Given the description of an element on the screen output the (x, y) to click on. 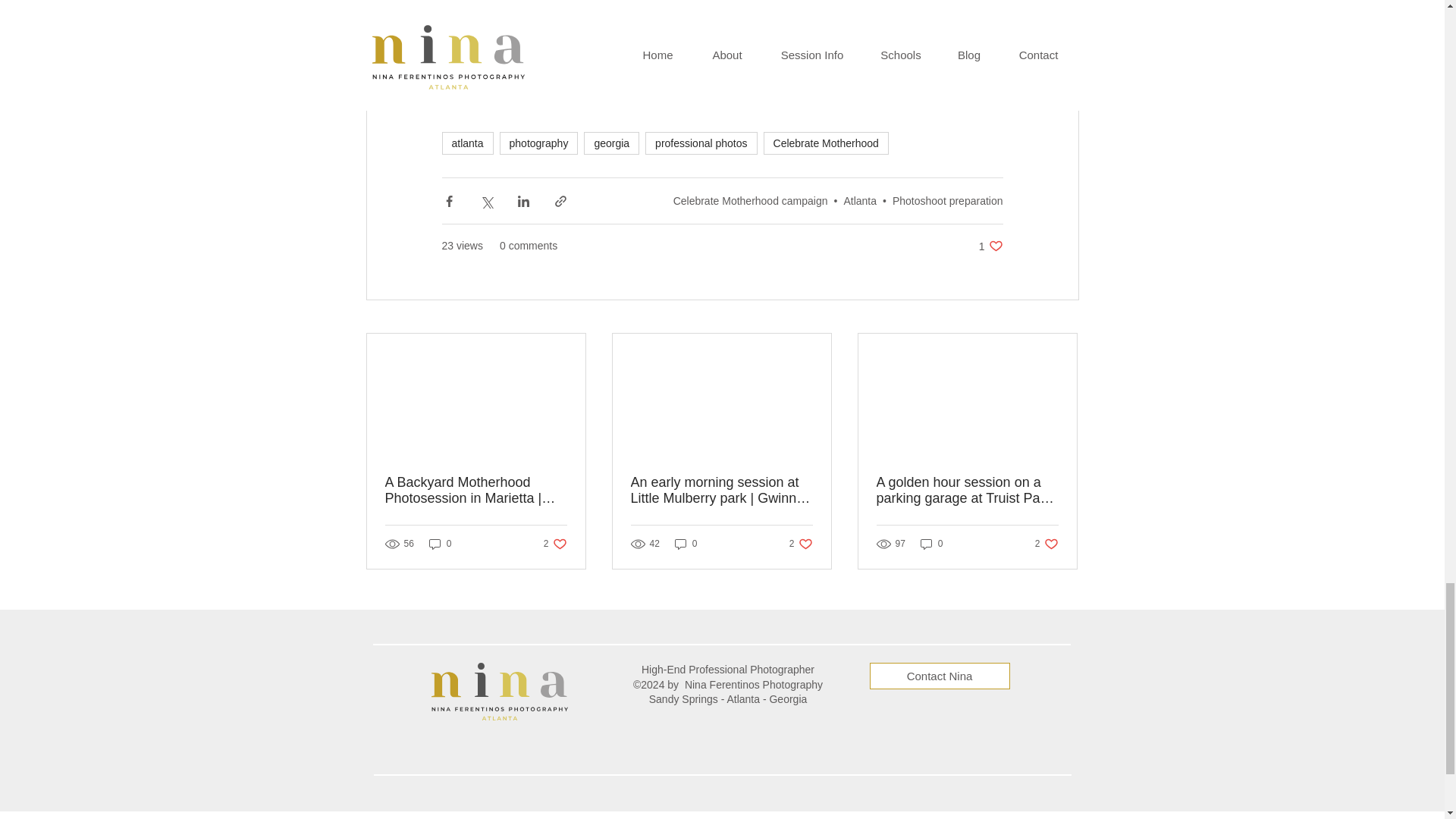
0 (440, 544)
0 (685, 544)
atlanta (467, 142)
Celebrate Motherhood (990, 246)
Celebrate Motherhood campaign (825, 142)
Photoshoot preparation (750, 200)
professional photos (947, 200)
Atlanta (800, 544)
photography (701, 142)
georgia (859, 200)
